Given the description of an element on the screen output the (x, y) to click on. 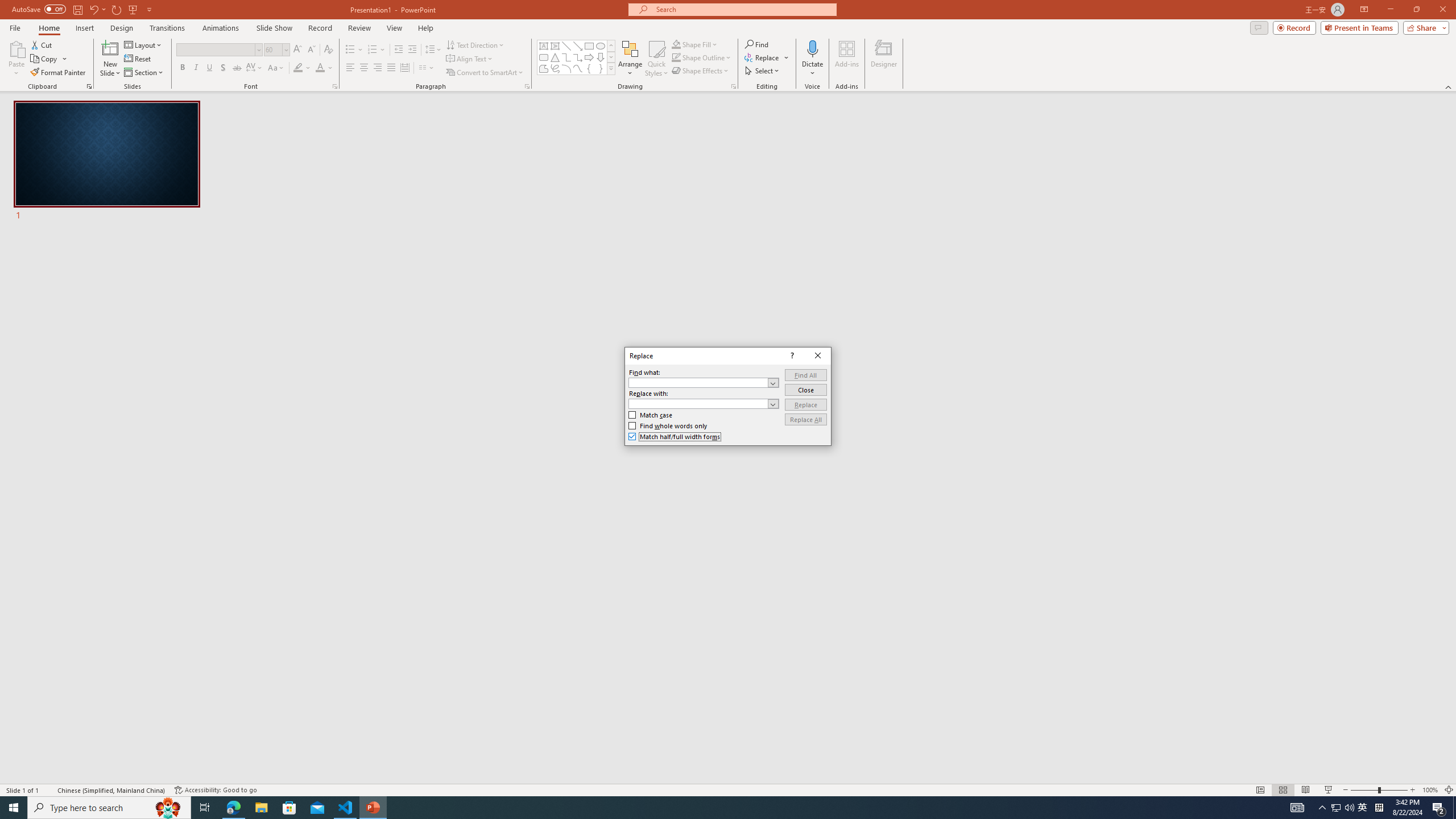
Find what (697, 382)
